Given the description of an element on the screen output the (x, y) to click on. 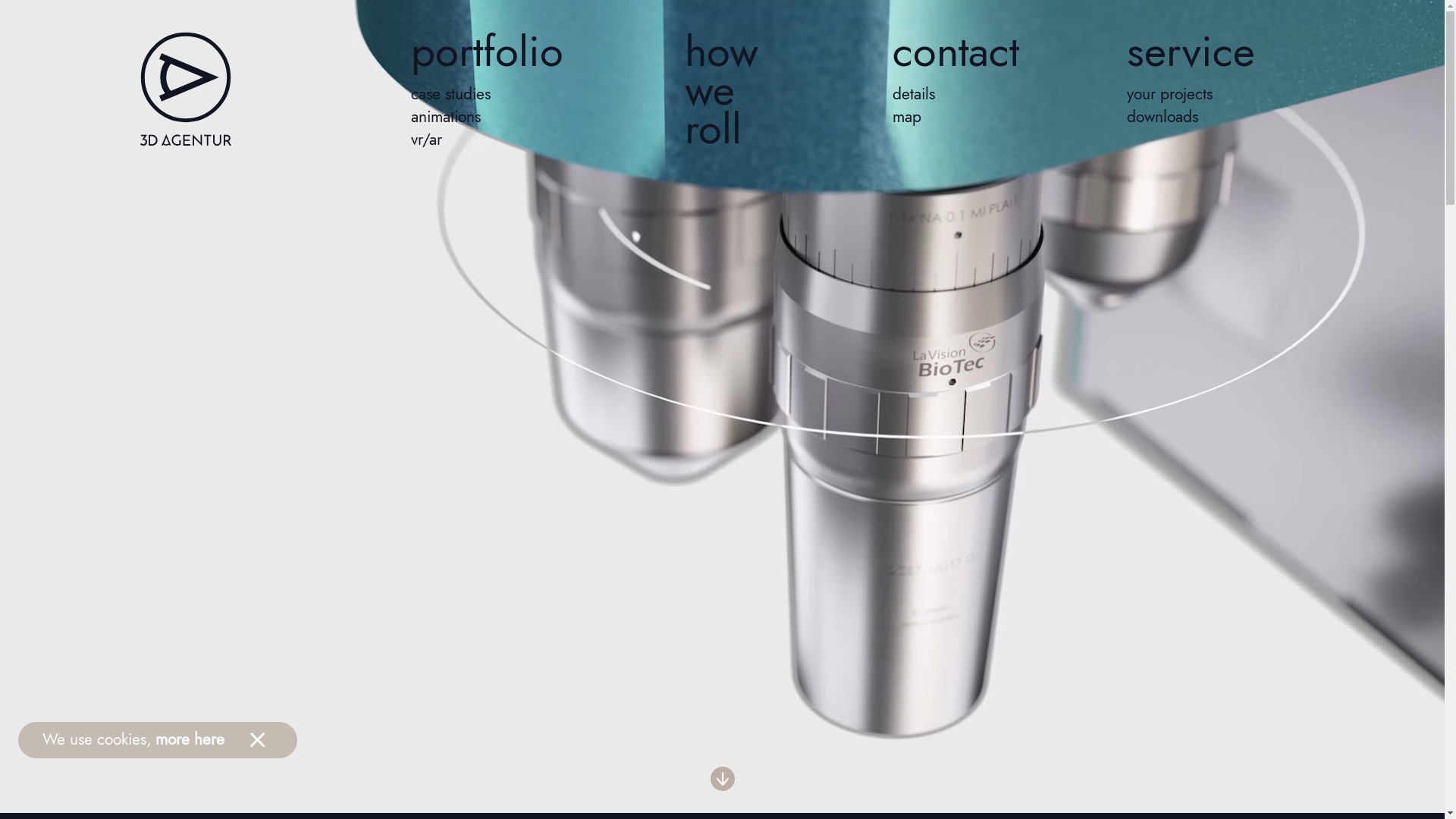
contact
details
map Element type: text (955, 121)
more here Element type: text (189, 739)
service
your projects
downloads Element type: text (1190, 121)
portfolio
case studies
animations
vr/ar Element type: text (487, 121)
how
we
roll Element type: text (721, 121)
